Given the description of an element on the screen output the (x, y) to click on. 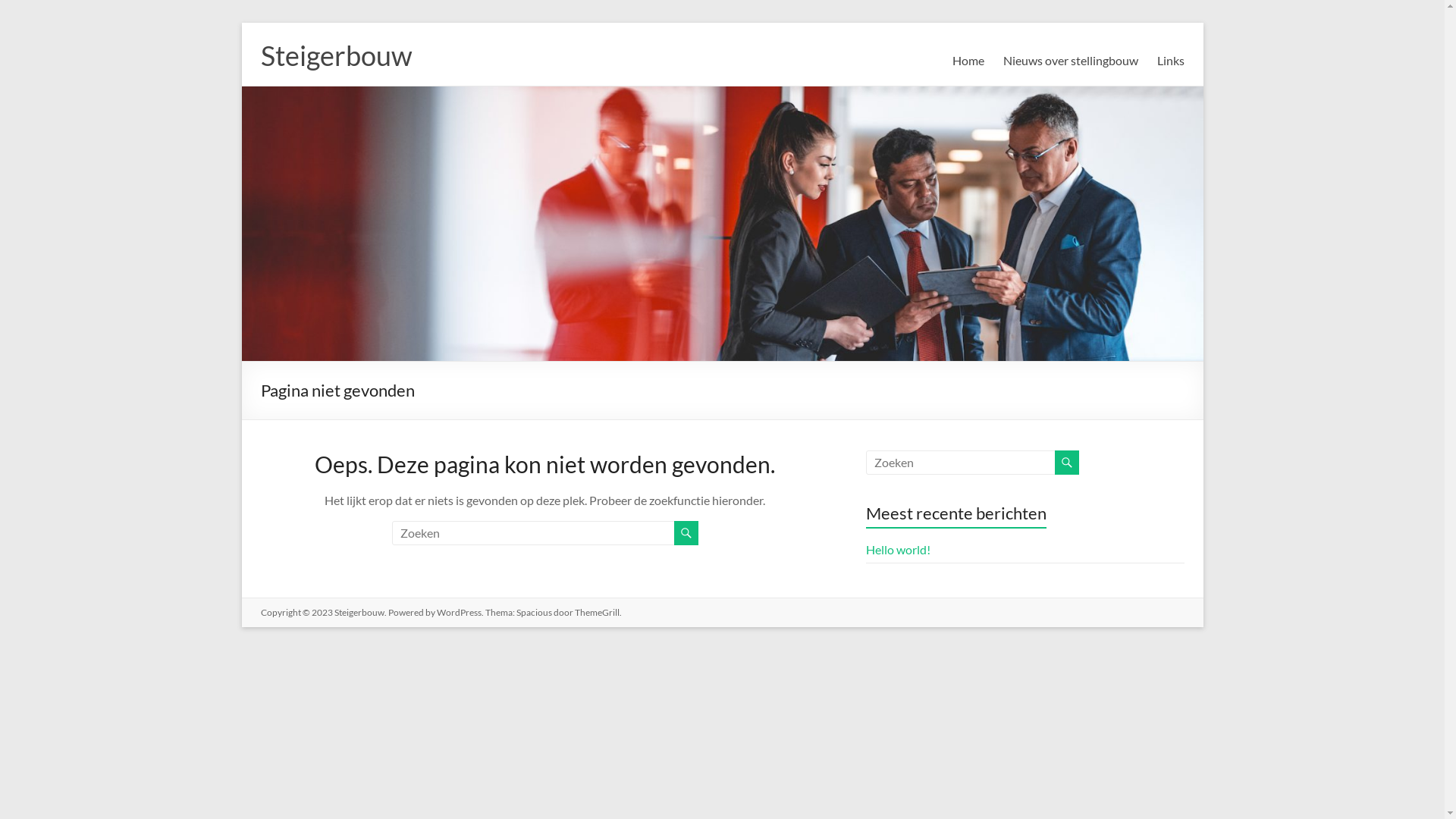
Steigerbouw Element type: text (358, 612)
Home Element type: text (968, 60)
WordPress Element type: text (458, 612)
Nieuws over stellingbouw Element type: text (1069, 60)
Hello world! Element type: text (898, 549)
ThemeGrill Element type: text (596, 612)
Skip to content Element type: text (241, 21)
Steigerbouw Element type: text (336, 55)
Links Element type: text (1170, 60)
